Given the description of an element on the screen output the (x, y) to click on. 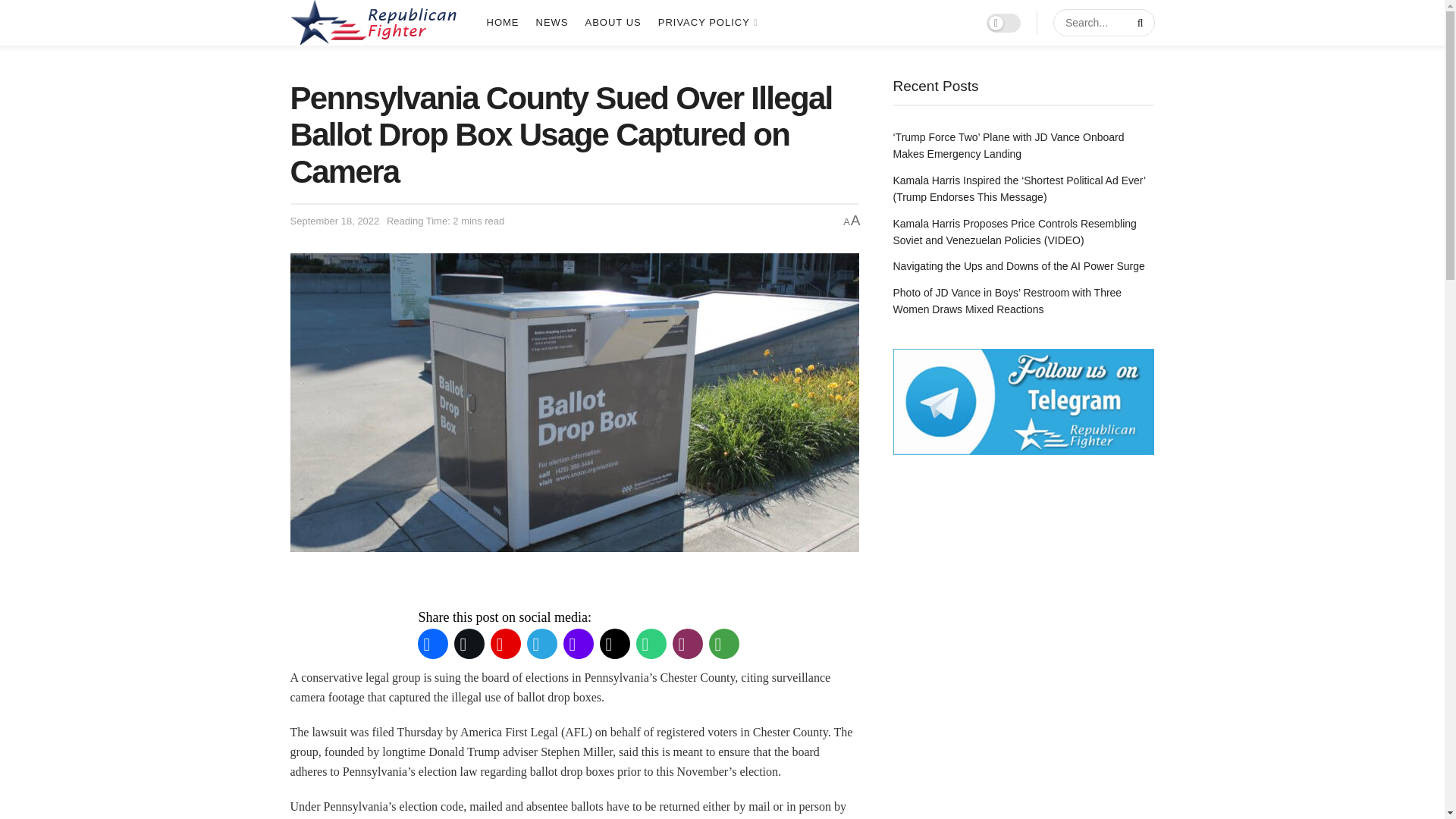
GETTR (504, 643)
More Options (722, 643)
Gab (649, 643)
Threads (613, 643)
PRIVACY POLICY (706, 22)
Facebook (431, 643)
ABOUT US (613, 22)
Telegram (540, 643)
Truth Social (577, 643)
September 18, 2022 (333, 220)
